Given the description of an element on the screen output the (x, y) to click on. 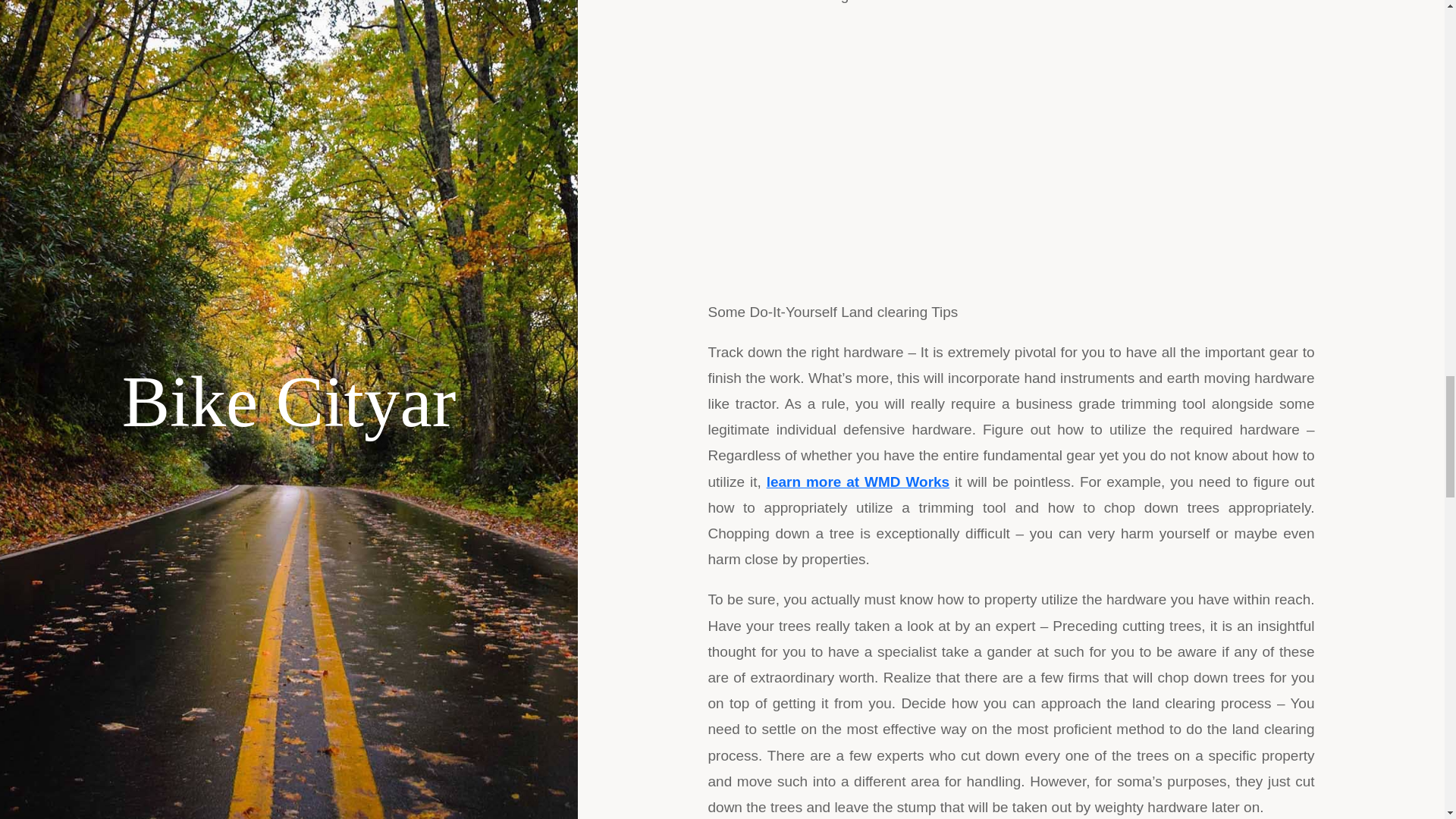
learn more at WMD Works (858, 481)
